Given the description of an element on the screen output the (x, y) to click on. 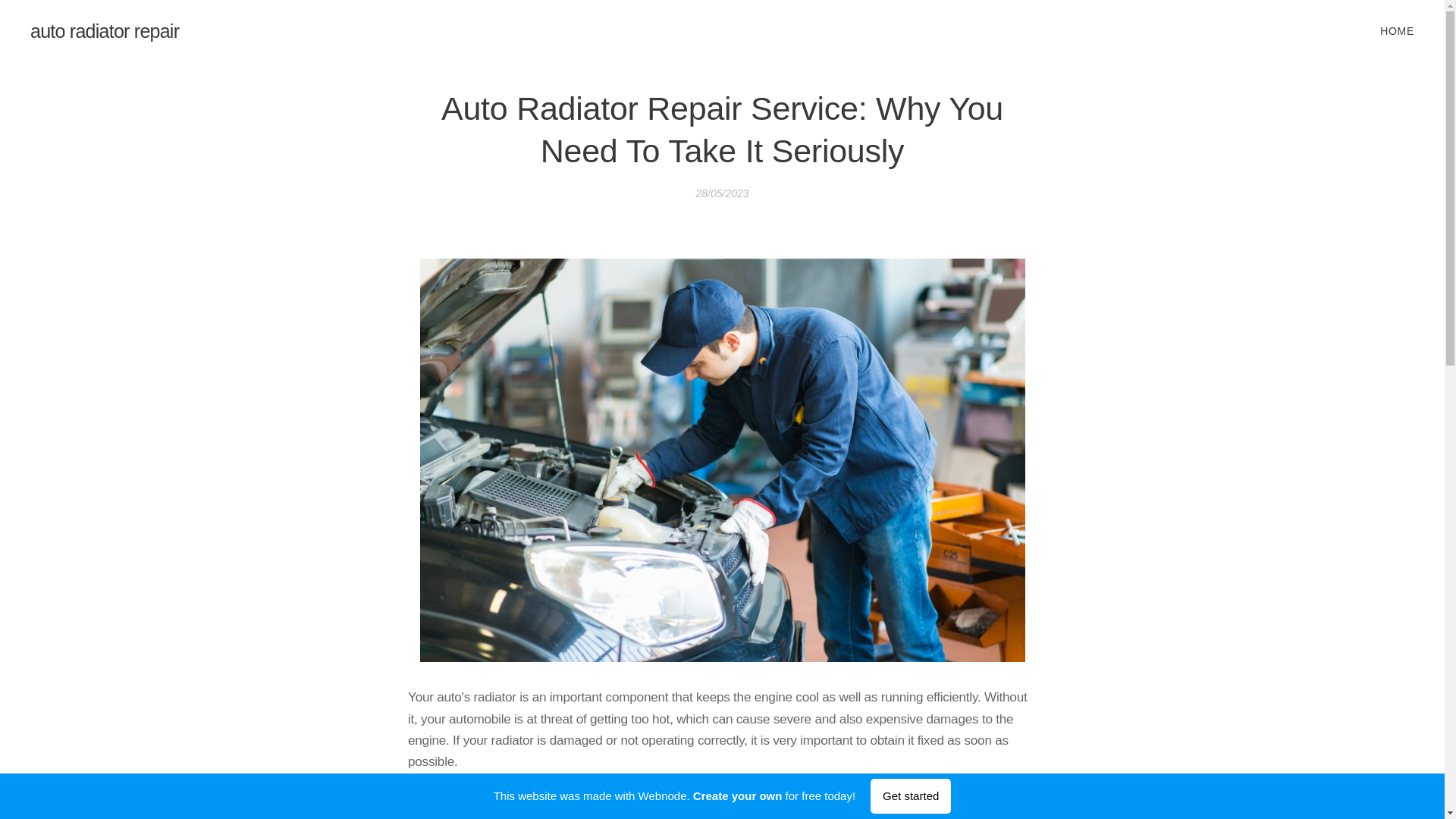
HOME (1394, 30)
auto radiator repair (104, 31)
